Given the description of an element on the screen output the (x, y) to click on. 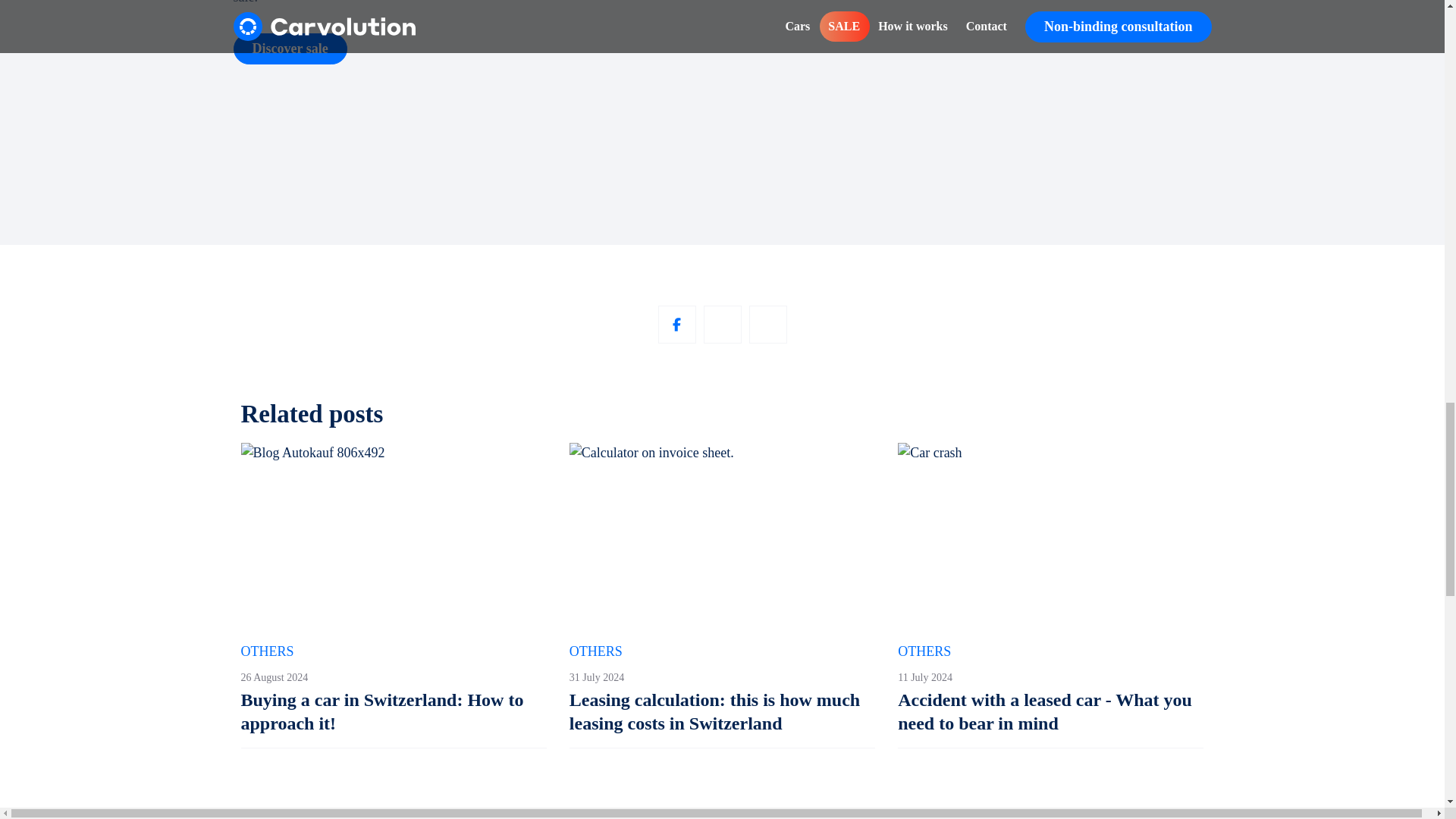
Discover sale (289, 48)
